Given the description of an element on the screen output the (x, y) to click on. 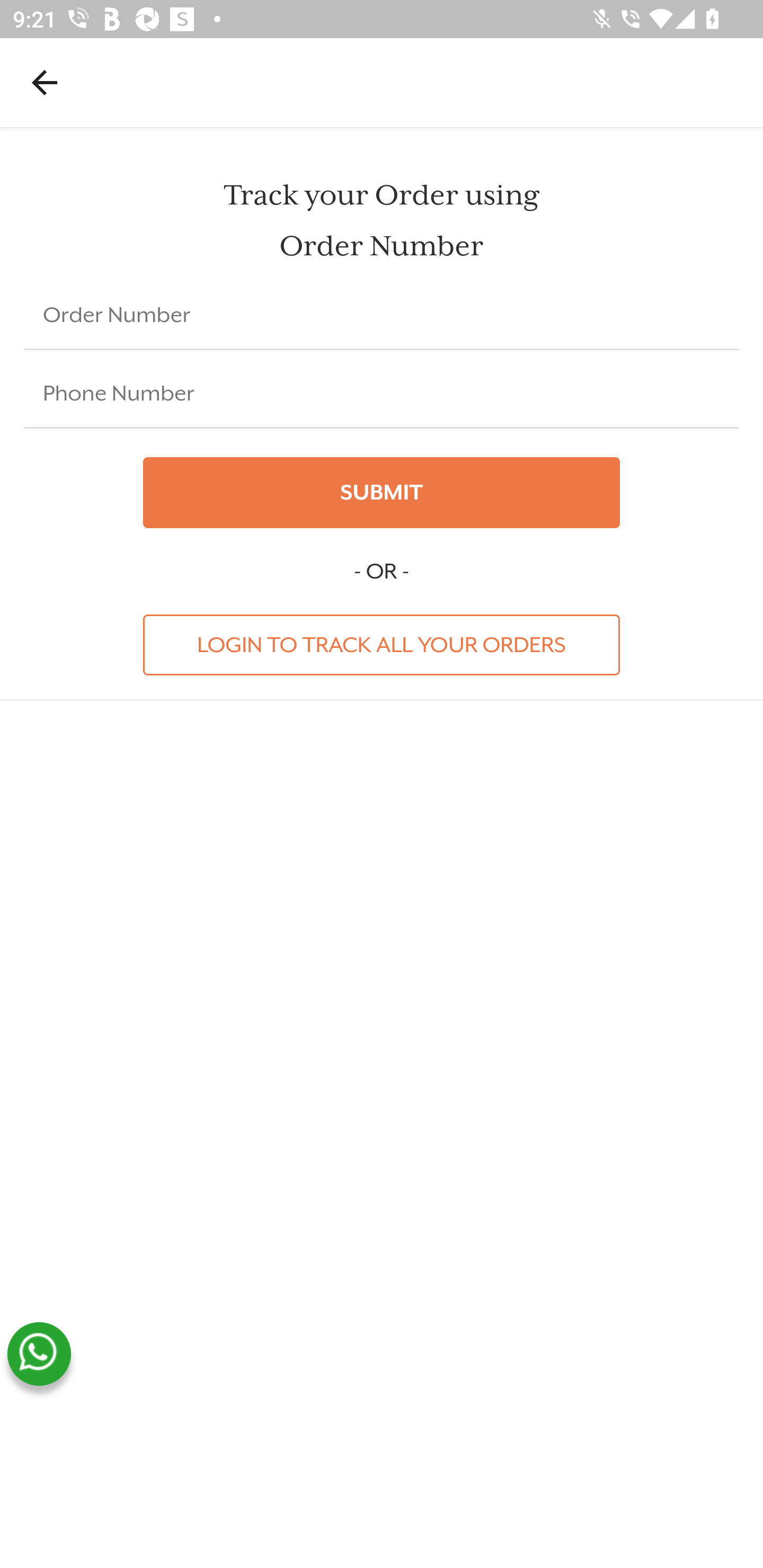
Navigate up (44, 82)
SUBMIT (381, 492)
LOGIN TO TRACK ALL YOUR ORDERS (381, 644)
whatsapp (38, 1353)
